Given the description of an element on the screen output the (x, y) to click on. 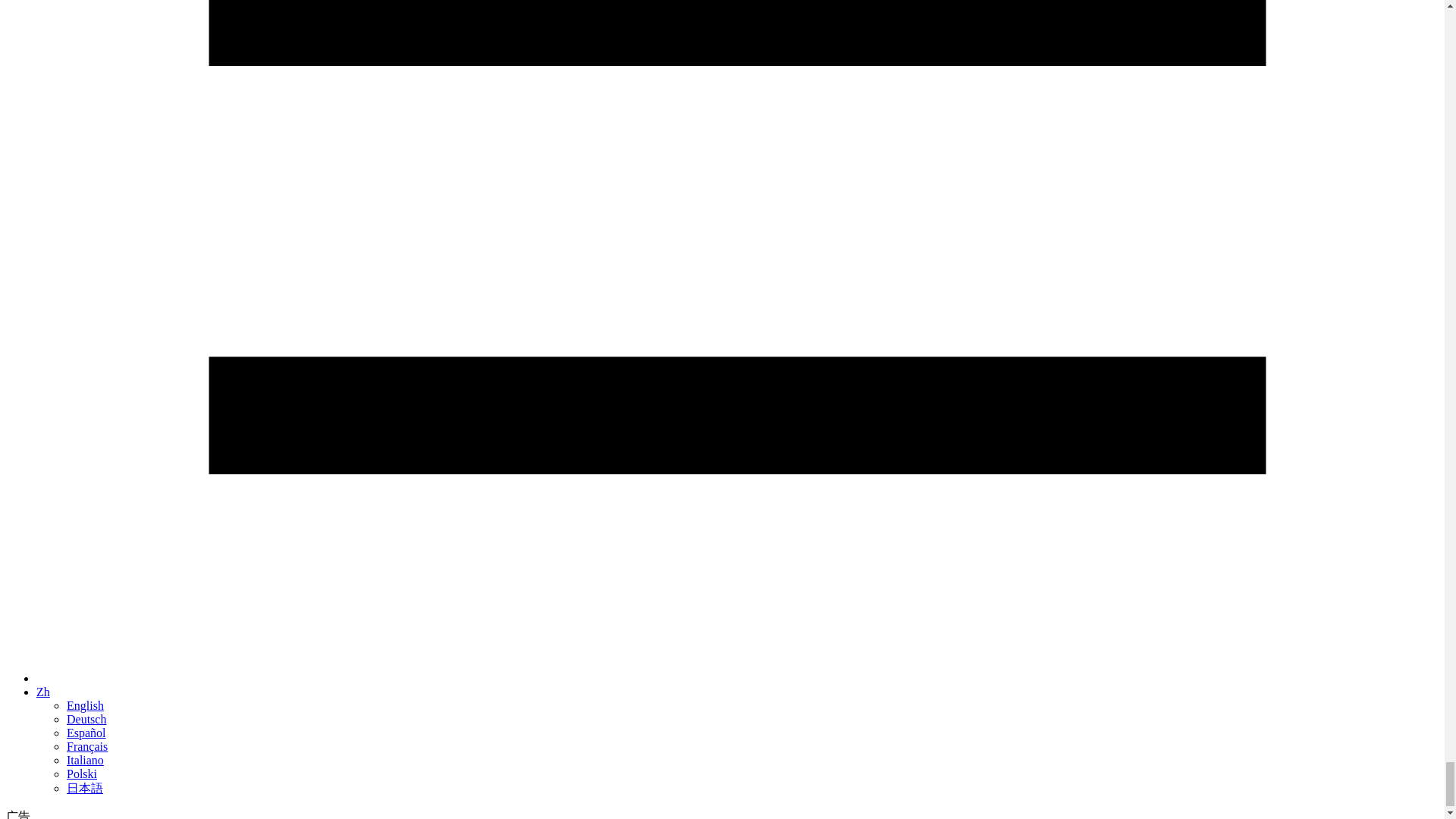
Deutsch (86, 718)
Polski (81, 773)
Zh (42, 691)
Italiano (84, 759)
English (84, 705)
